Given the description of an element on the screen output the (x, y) to click on. 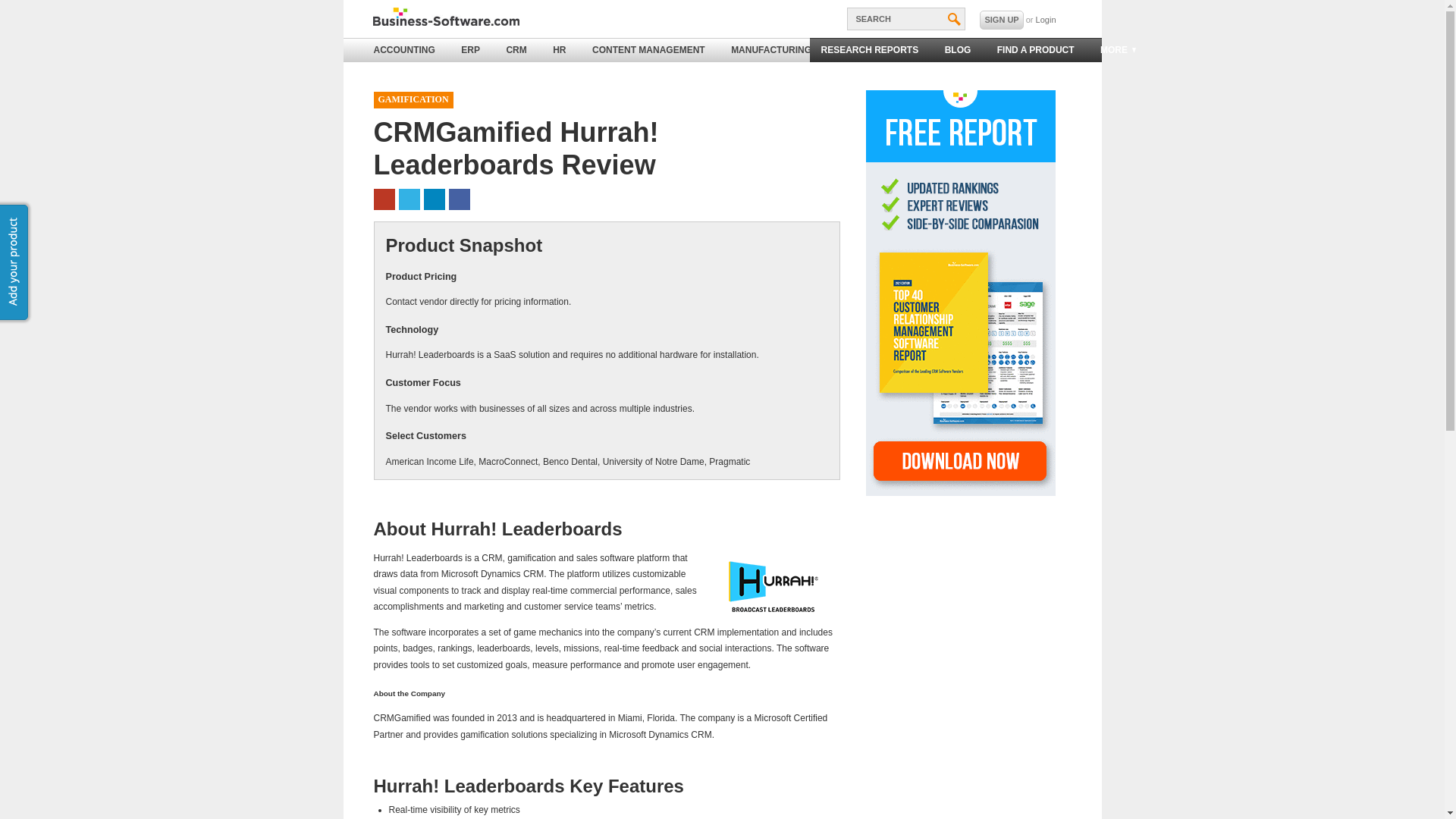
CONTENT MANAGEMENT (648, 49)
SEARCH (906, 18)
SEARCH (906, 18)
RESEARCH REPORTS (869, 49)
CRMGamified Hurrah! Leaderboards (777, 584)
SIGN UP (1001, 19)
ERP (470, 49)
Login (1046, 19)
CRM (516, 49)
SIGN UP (1001, 19)
HR (558, 49)
ACCOUNTING (404, 49)
MANUFACTURING (770, 49)
BLOG (957, 49)
LOGIN (1046, 19)
